Given the description of an element on the screen output the (x, y) to click on. 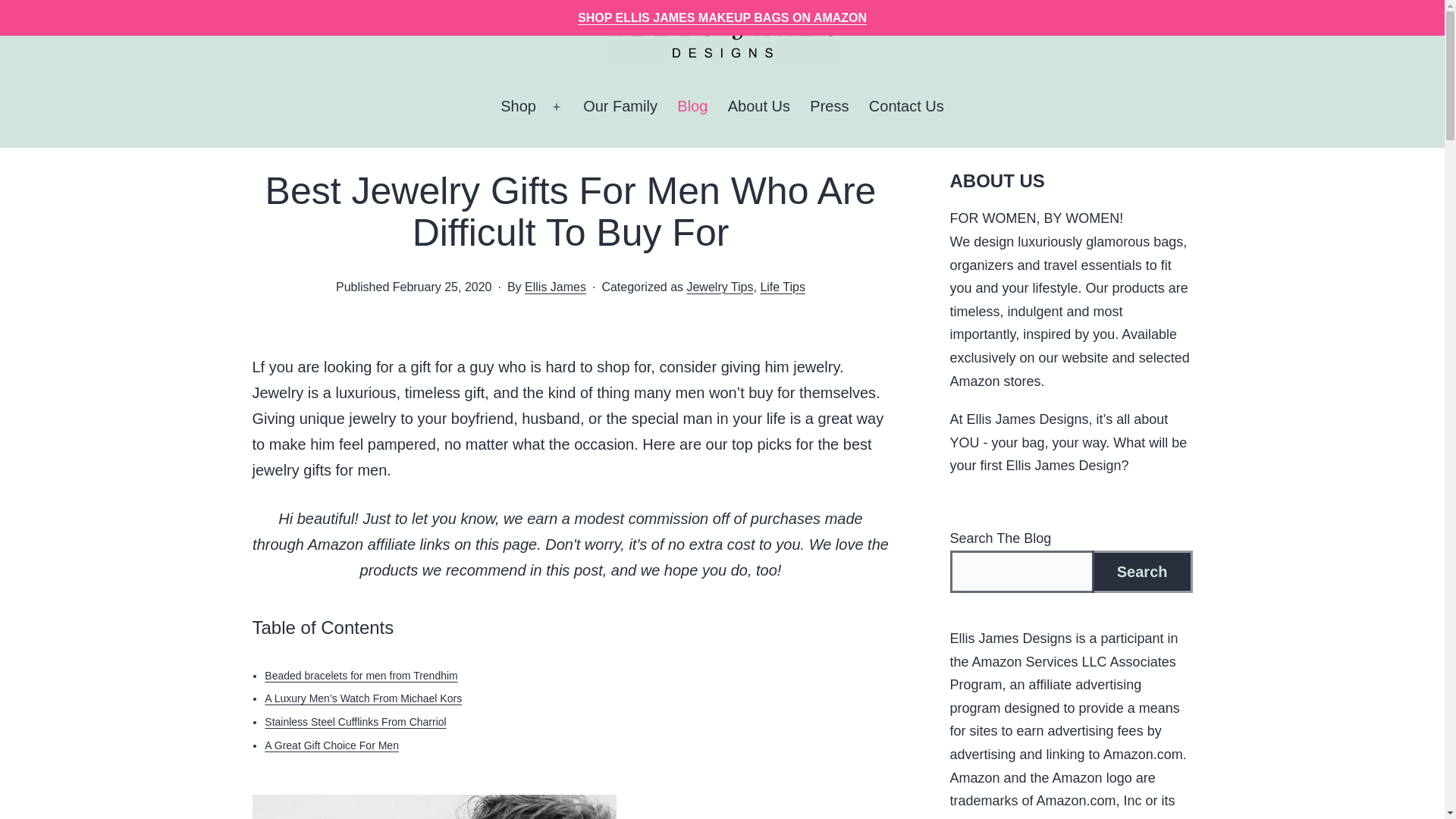
Beaded bracelets for men from Trendhim (360, 675)
Search (1142, 571)
Blog (691, 106)
Life Tips (782, 286)
Ellis James (555, 286)
Our Family (619, 106)
A Great Gift Choice For Men (331, 745)
Contact Us (906, 106)
Stainless Steel Cufflinks From Charriol (354, 721)
Press (829, 106)
